Given the description of an element on the screen output the (x, y) to click on. 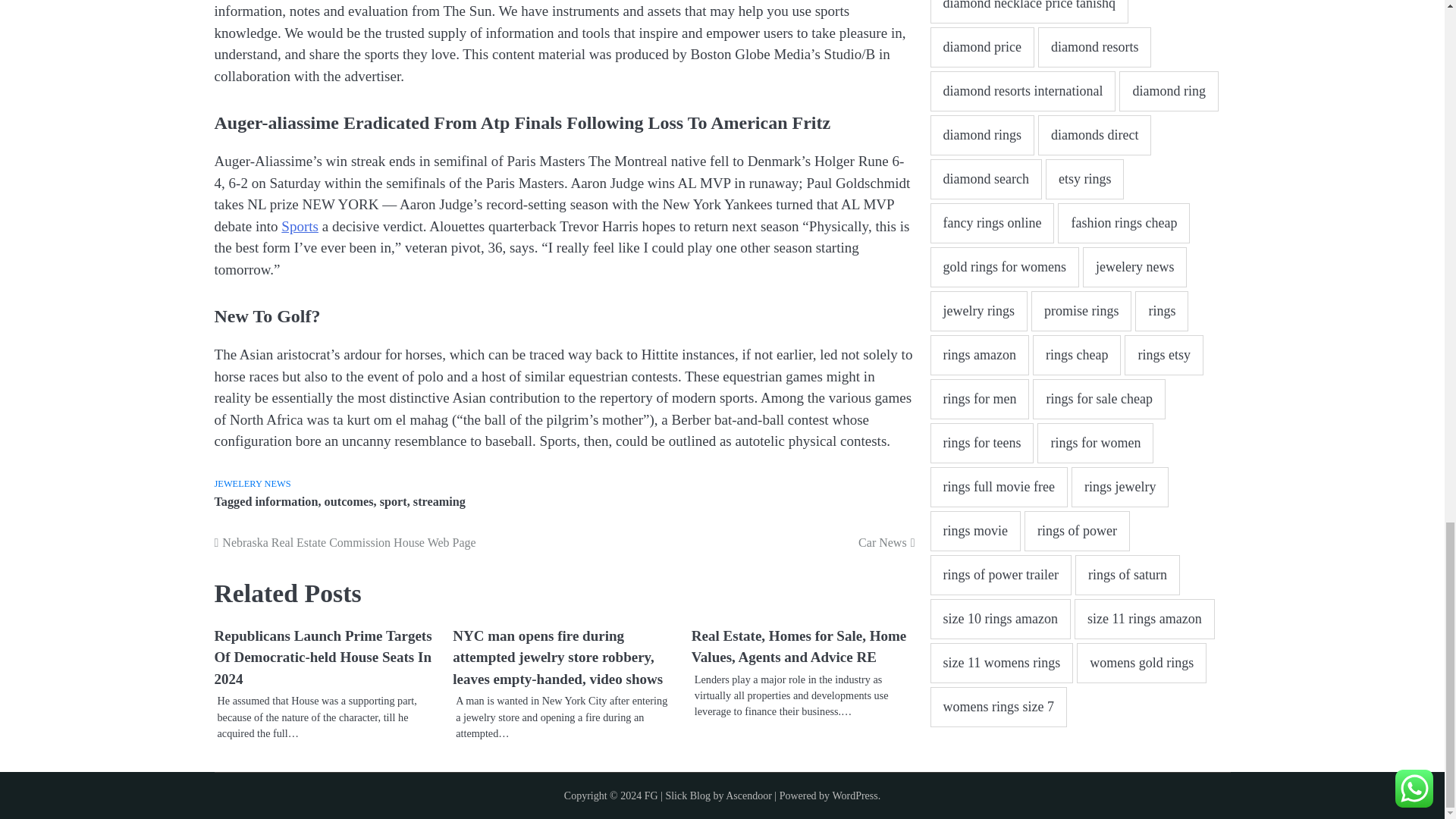
information (285, 501)
JEWELERY NEWS (251, 483)
Sports (299, 226)
outcomes (349, 501)
Nebraska Real Estate Commission House Web Page (389, 542)
streaming (439, 501)
sport (393, 501)
Car News (739, 542)
